Given the description of an element on the screen output the (x, y) to click on. 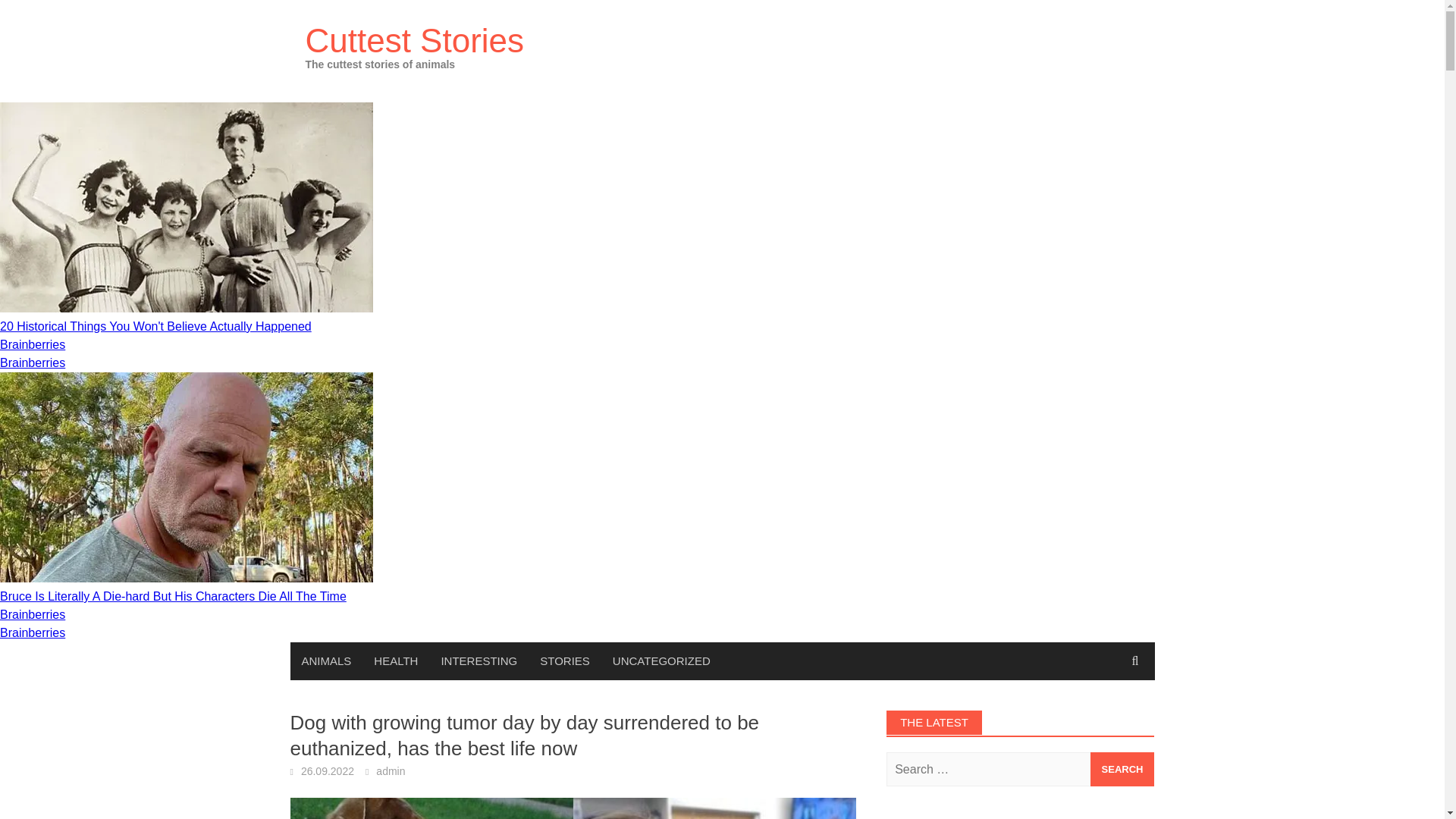
admin (389, 770)
STORIES (564, 661)
Search (1122, 769)
Search (1122, 769)
26.09.2022 (327, 770)
ANIMALS (325, 661)
INTERESTING (478, 661)
HEALTH (395, 661)
Search (1122, 769)
UNCATEGORIZED (661, 661)
Cuttest Stories (414, 40)
